Given the description of an element on the screen output the (x, y) to click on. 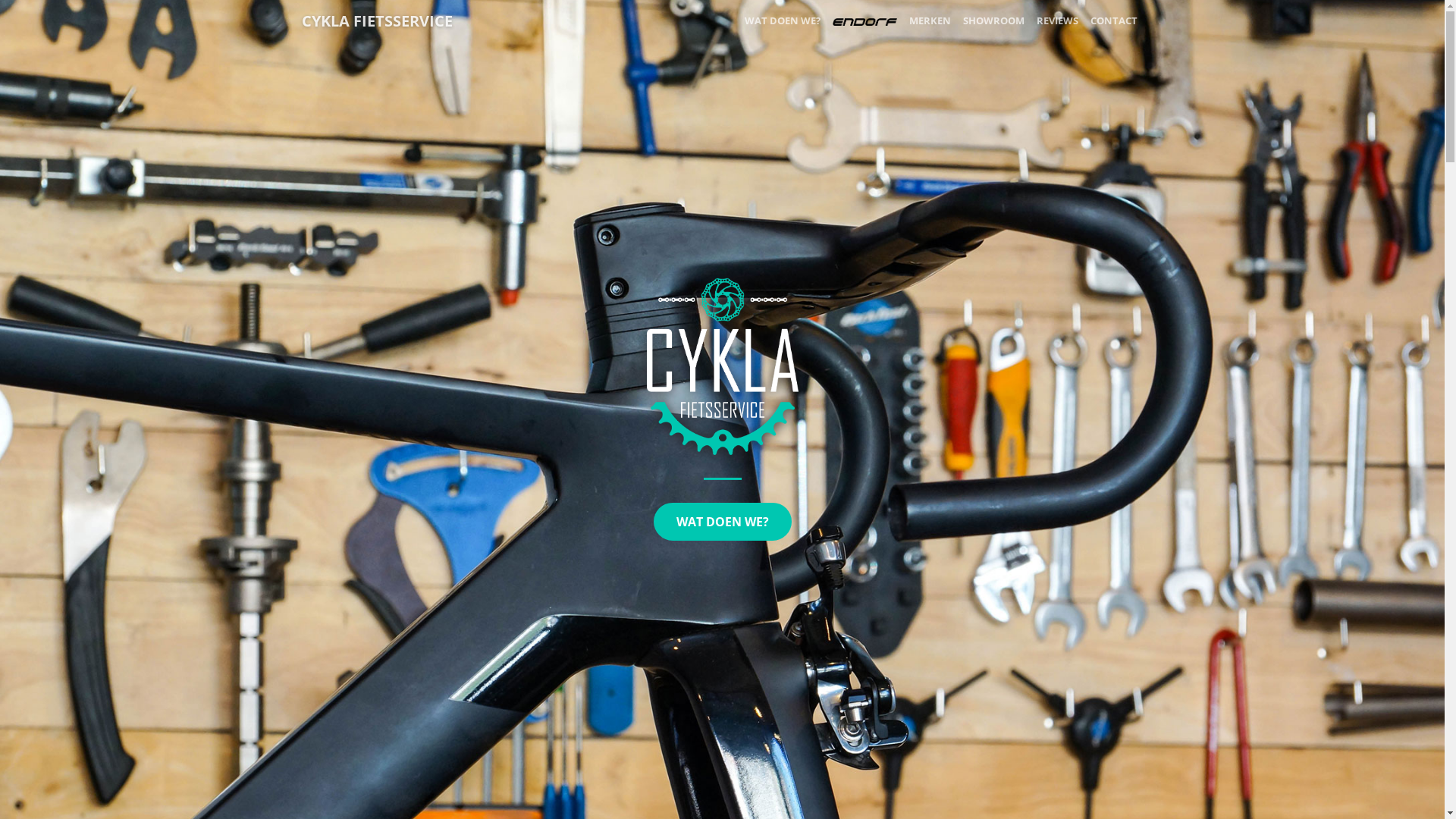
WAT DOEN WE? Element type: text (722, 521)
SHOWROOM Element type: text (993, 20)
WAT DOEN WE? Element type: text (782, 20)
MERKEN Element type: text (929, 20)
REVIEWS Element type: text (1056, 20)
CYKLA FIETSSERVICE Element type: text (376, 21)
CONTACT Element type: text (1113, 20)
